Given the description of an element on the screen output the (x, y) to click on. 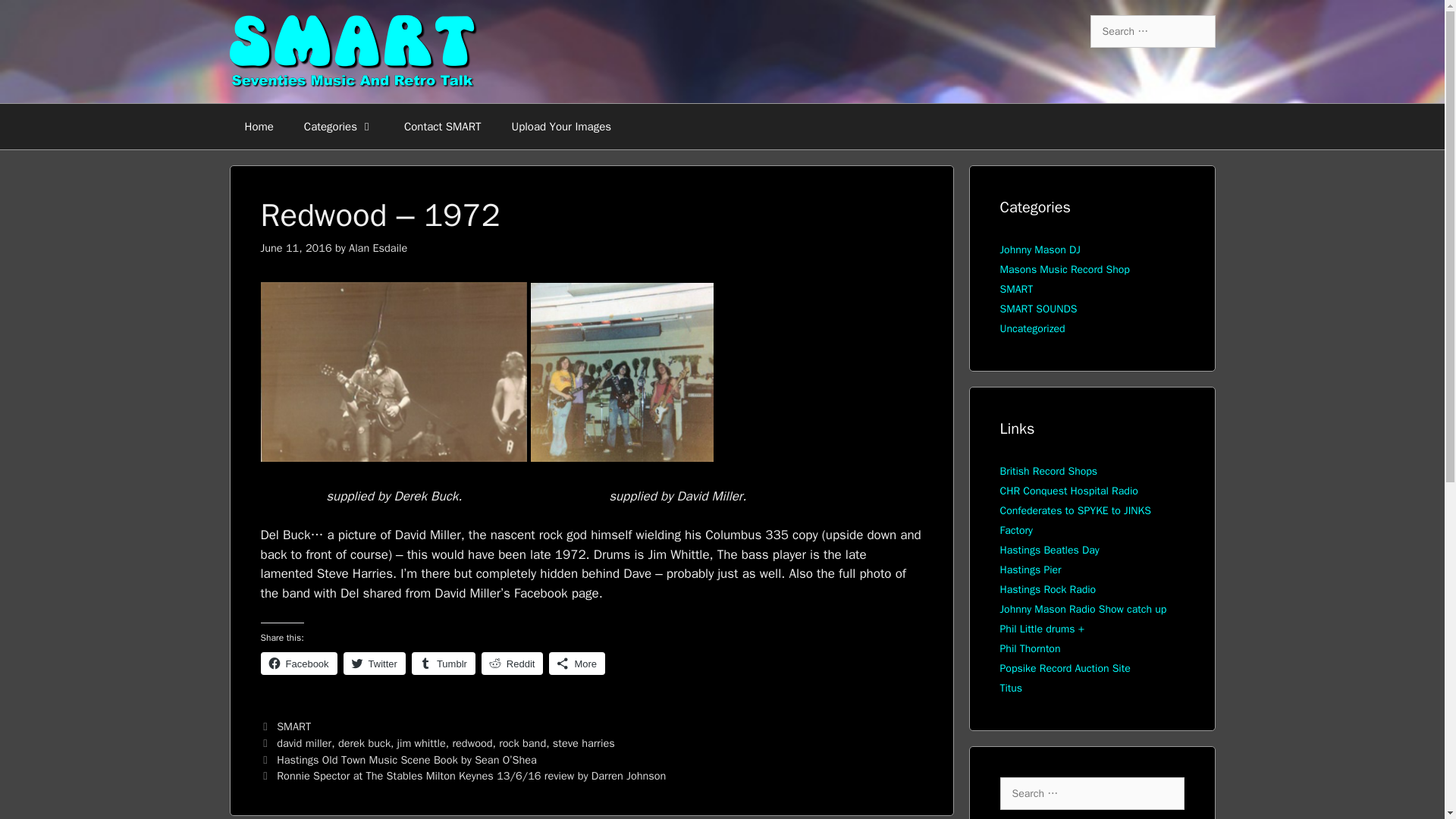
jim whittle (421, 743)
Contact SMART (442, 126)
Facebook (298, 662)
redwood (471, 743)
Categories (338, 126)
SMART (293, 726)
Search for: (1152, 31)
beatles day, hastings, the sara lee trust (1048, 549)
Home (258, 126)
Alan Esdaile (378, 247)
View all posts by Alan Esdaile (378, 247)
Reddit (512, 662)
Masons Music Record Shop (1063, 269)
hastings record shops, disc jockey, masons music (1047, 471)
SMART SOUNDS (1037, 308)
